Given the description of an element on the screen output the (x, y) to click on. 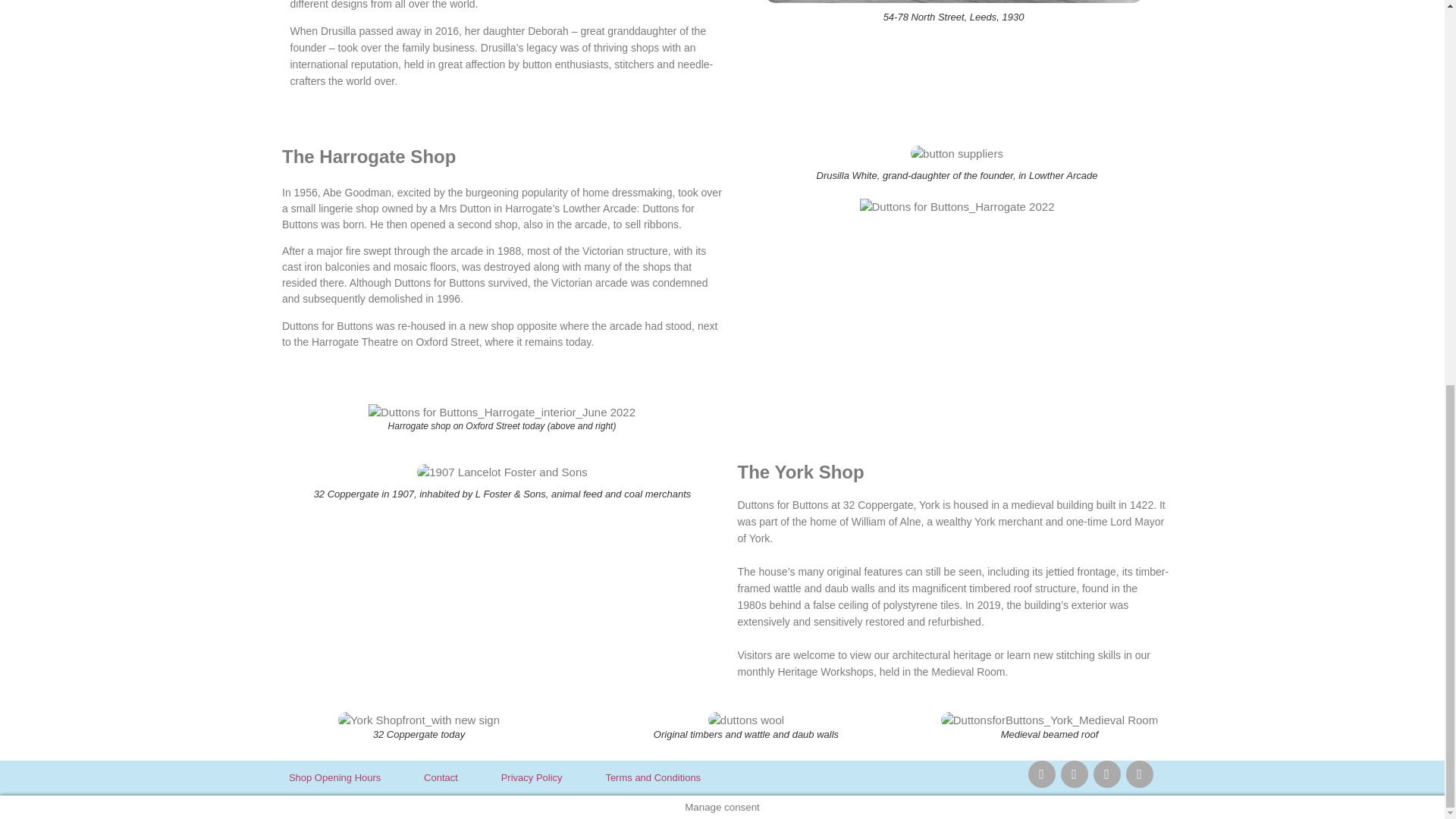
duttons wool (745, 719)
button suppliers (957, 153)
1907 Lancelot Foster and Sons (501, 471)
